Given the description of an element on the screen output the (x, y) to click on. 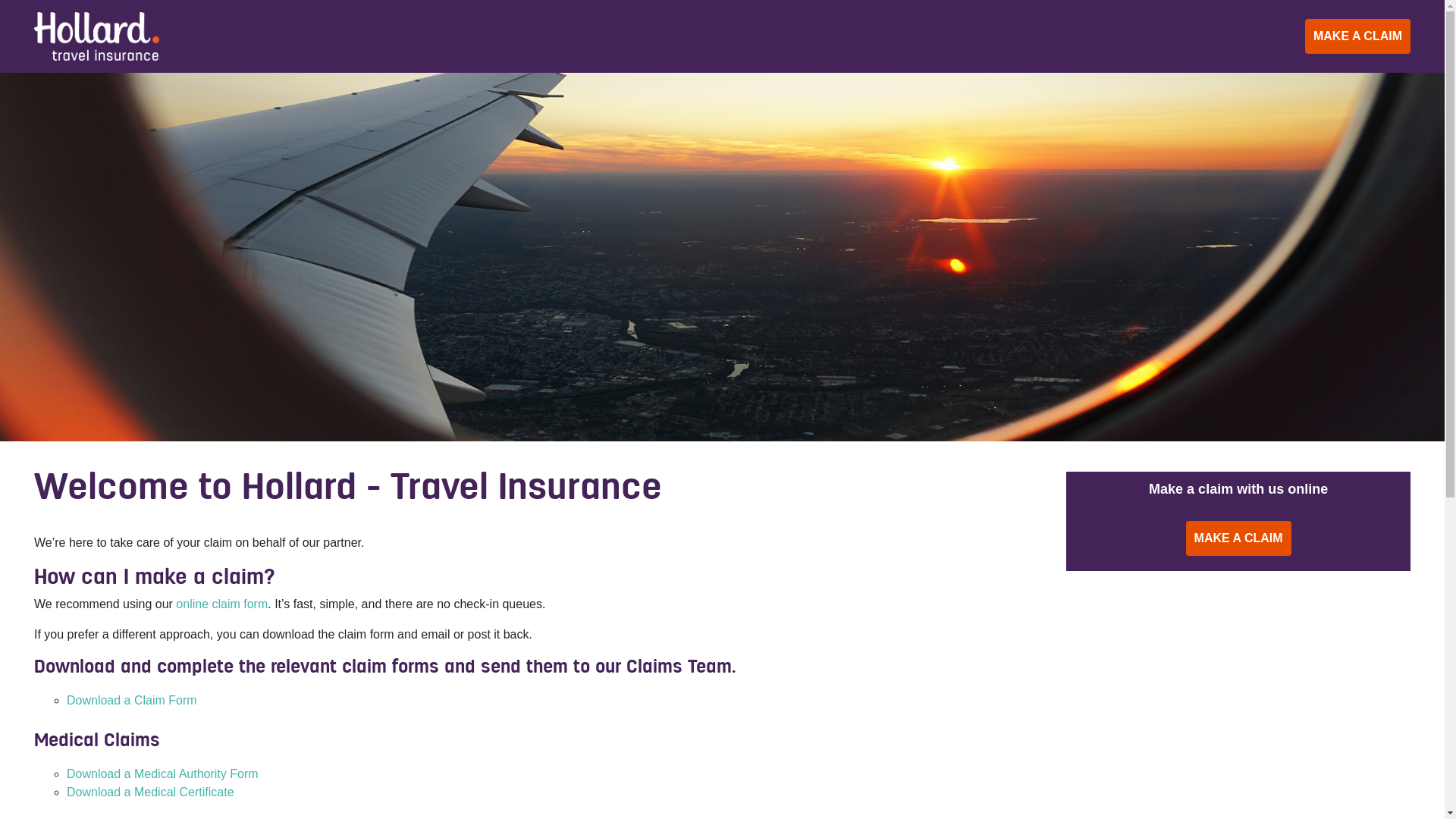
Download a Claim Form Element type: text (131, 699)
Download a Medical Certificate Element type: text (150, 791)
MAKE A CLAIM Element type: text (1238, 537)
MAKE A CLAIM Element type: text (1357, 35)
online claim form Element type: text (221, 603)
Download a Medical Authority Form Element type: text (162, 773)
